Given the description of an element on the screen output the (x, y) to click on. 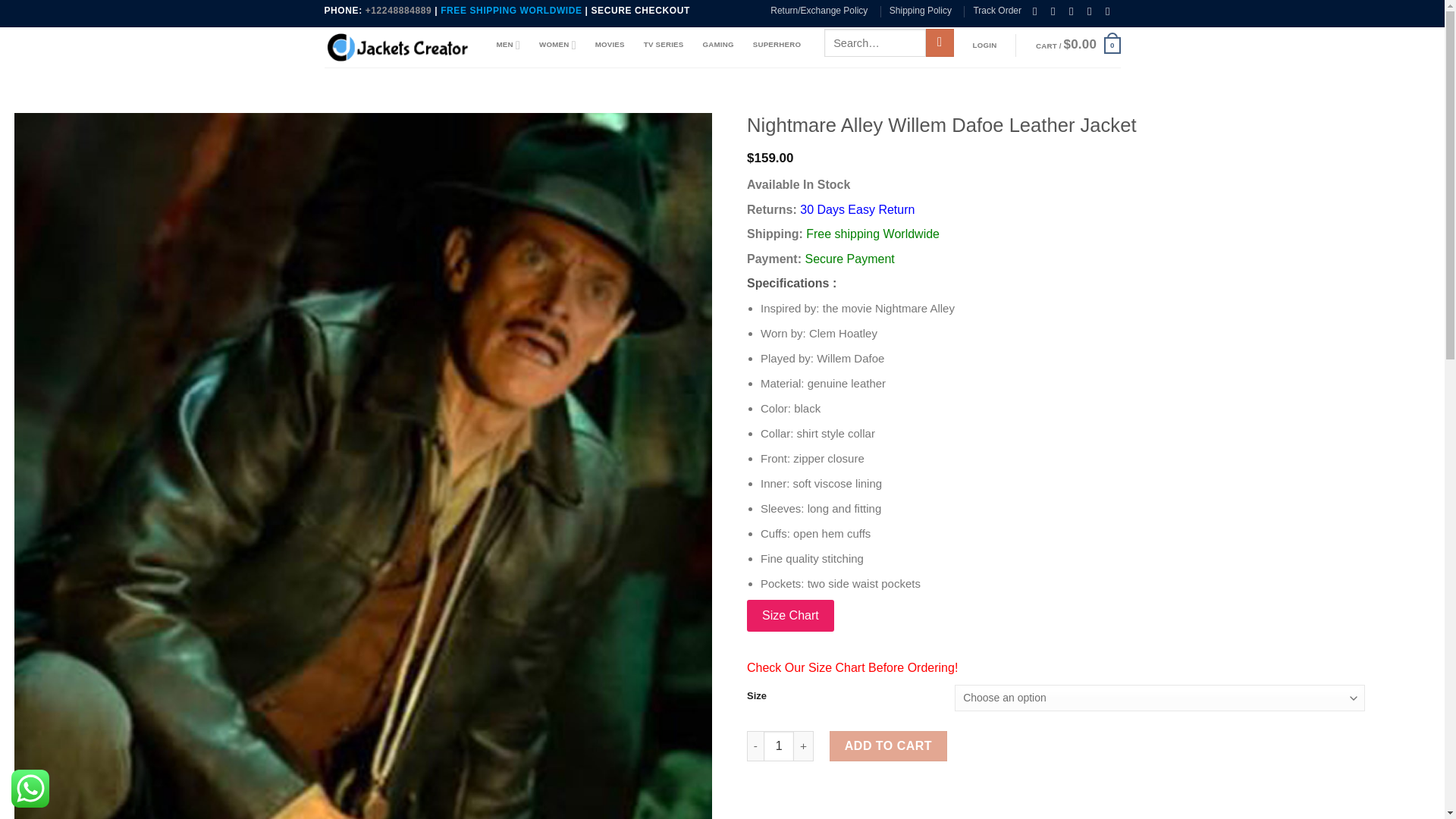
Cart (1078, 45)
TV SERIES (663, 44)
1 (777, 746)
Jackets Creator (399, 47)
Shipping Policy (920, 11)
WOMEN (557, 44)
GAMING (717, 44)
Track Order (997, 11)
